Given the description of an element on the screen output the (x, y) to click on. 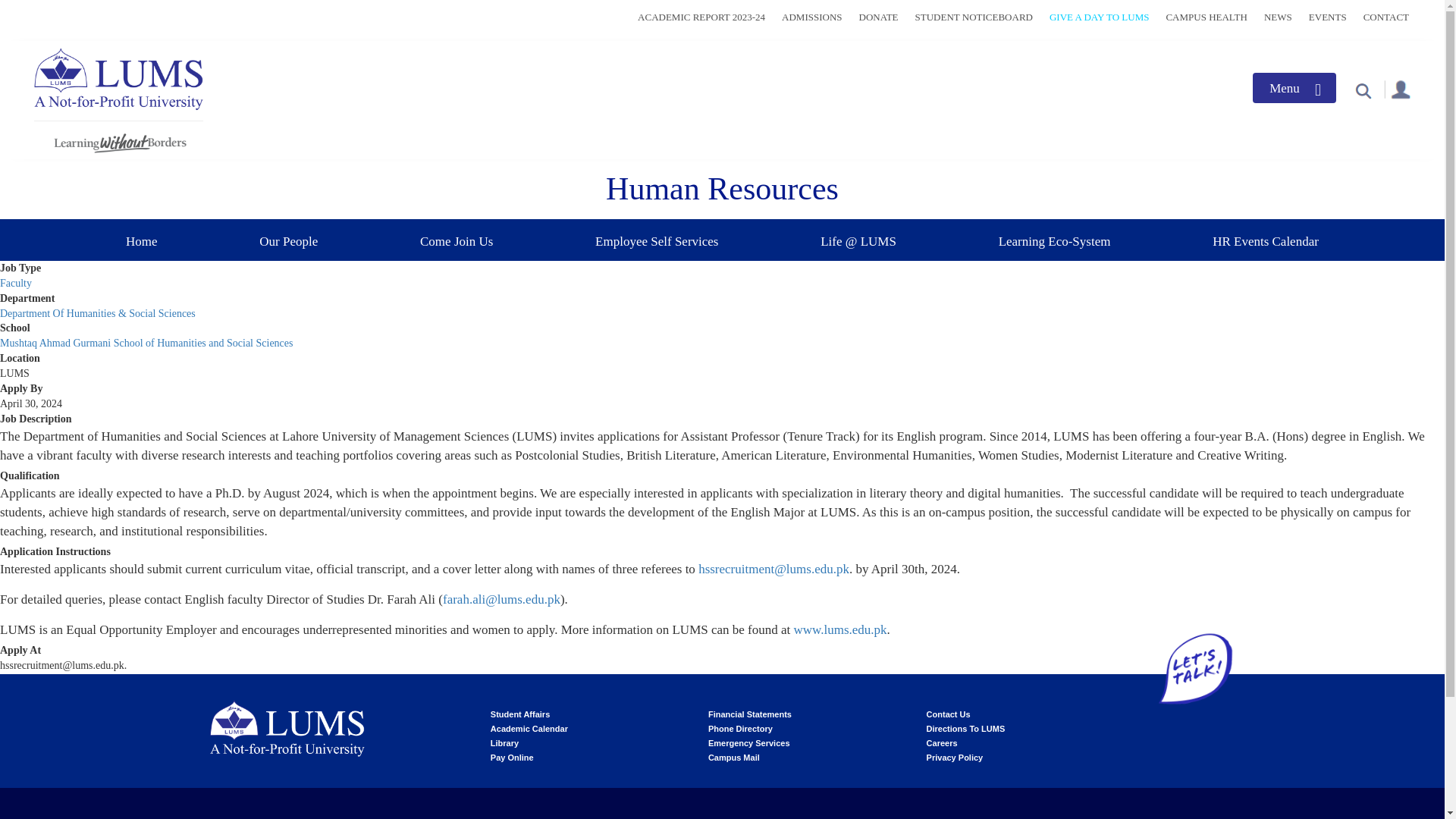
CONTACT (1385, 16)
NEWS (1277, 16)
STUDENT NOTICEBOARD (973, 16)
ACADEMIC REPORT 2023-24 (701, 16)
ADMISSIONS (811, 16)
CAMPUS HEALTH (1206, 16)
EVENTS (1327, 16)
DONATE (878, 16)
GIVE A DAY TO LUMS (1098, 16)
Menu (1294, 87)
Learning without Borders (118, 140)
